Given the description of an element on the screen output the (x, y) to click on. 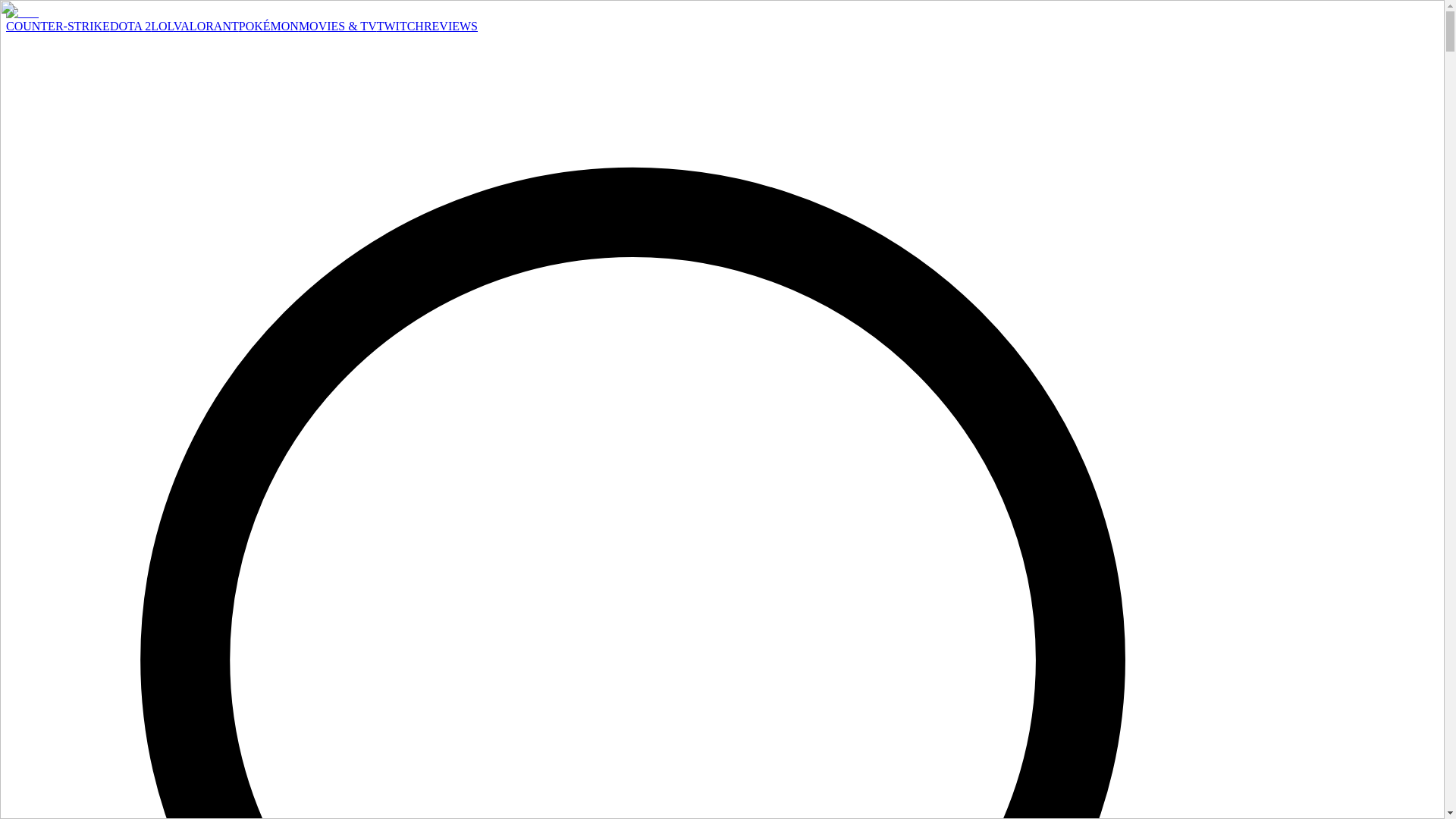
REVIEWS (450, 25)
LOL (162, 25)
VALORANT (205, 25)
COUNTER-STRIKE (57, 25)
DOTA 2 (130, 25)
TWITCH (400, 25)
